Given the description of an element on the screen output the (x, y) to click on. 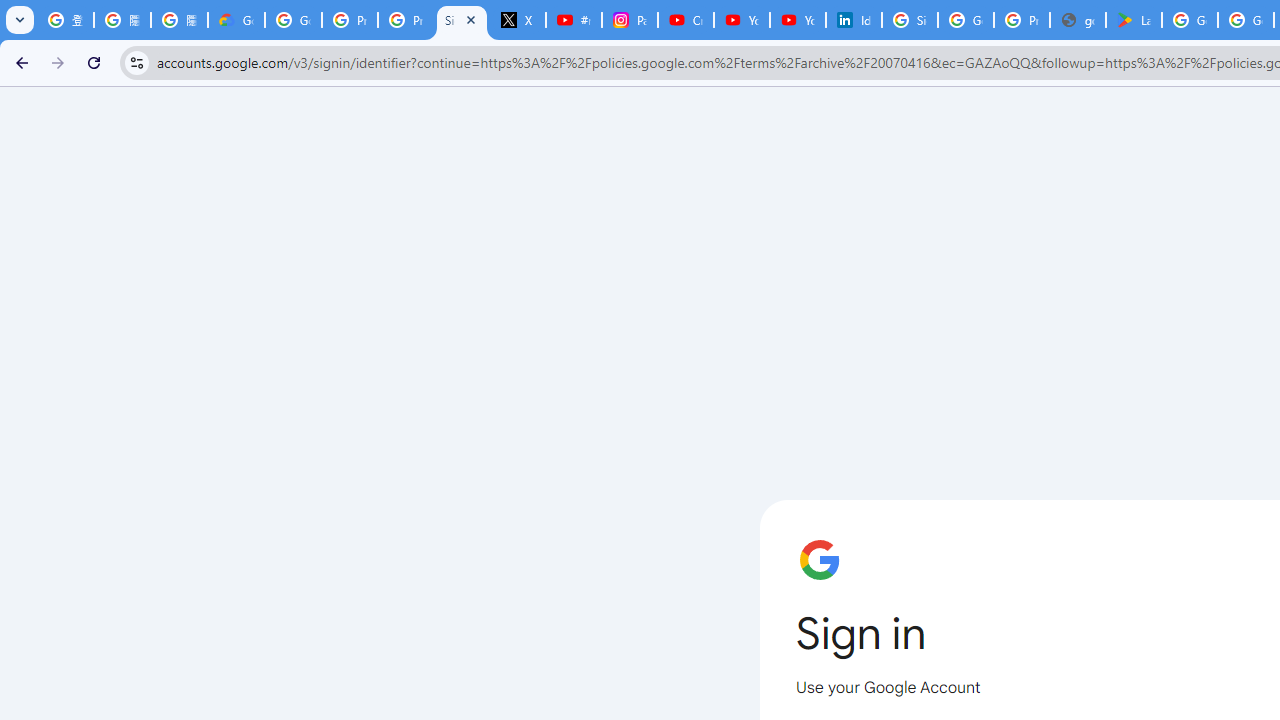
Identity verification via Persona | LinkedIn Help (853, 20)
Google Cloud Privacy Notice (235, 20)
YouTube Culture & Trends - YouTube Top 10, 2021 (797, 20)
Sign in - Google Accounts (461, 20)
#nbabasketballhighlights - YouTube (573, 20)
google_privacy_policy_en.pdf (1077, 20)
Last Shelter: Survival - Apps on Google Play (1133, 20)
